Given the description of an element on the screen output the (x, y) to click on. 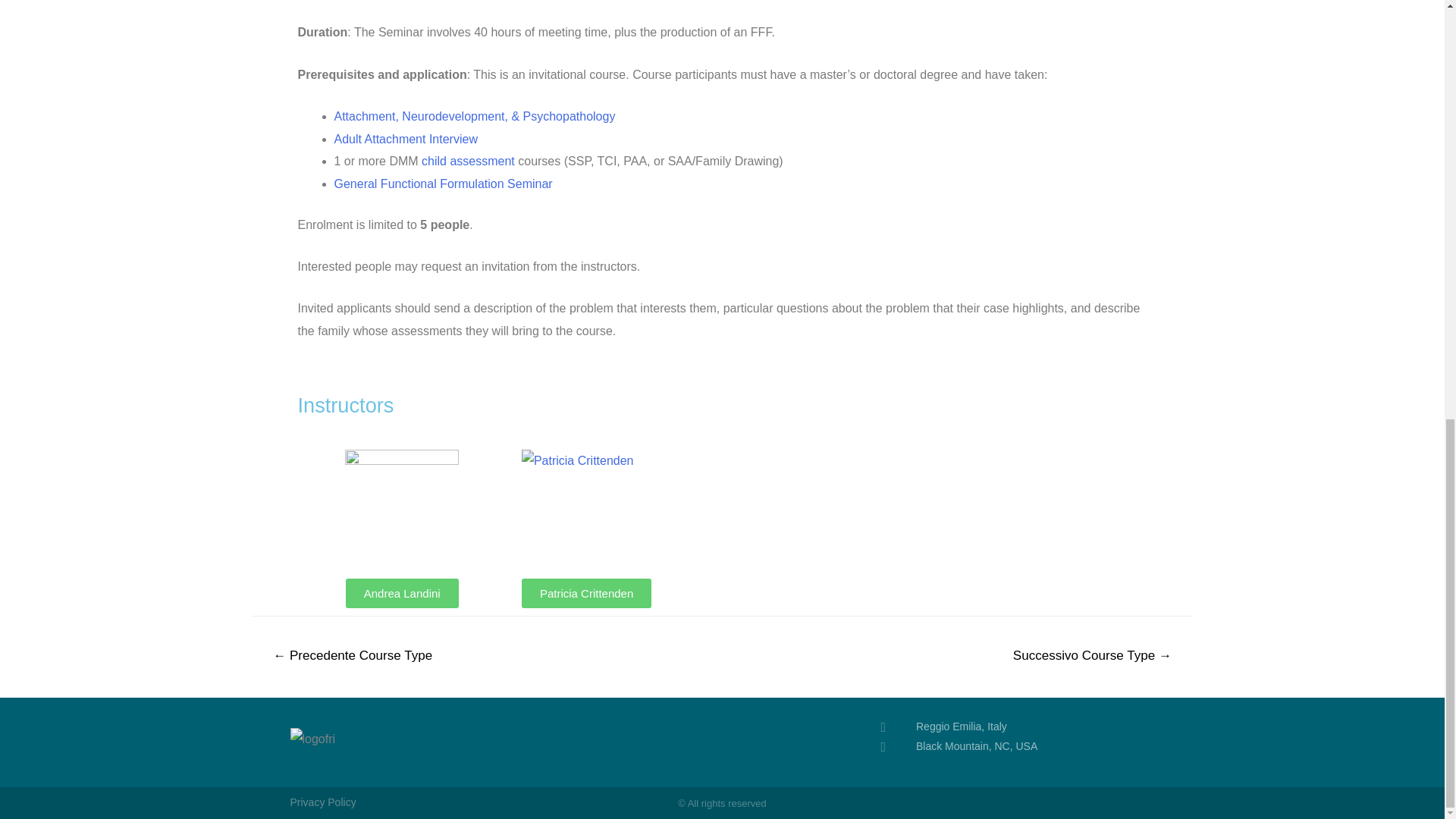
Andrea Landini (402, 593)
Adult Attachment Interview (405, 138)
logofri (311, 739)
child assessment (468, 160)
General Functional Formulation Seminar (442, 183)
